Given the description of an element on the screen output the (x, y) to click on. 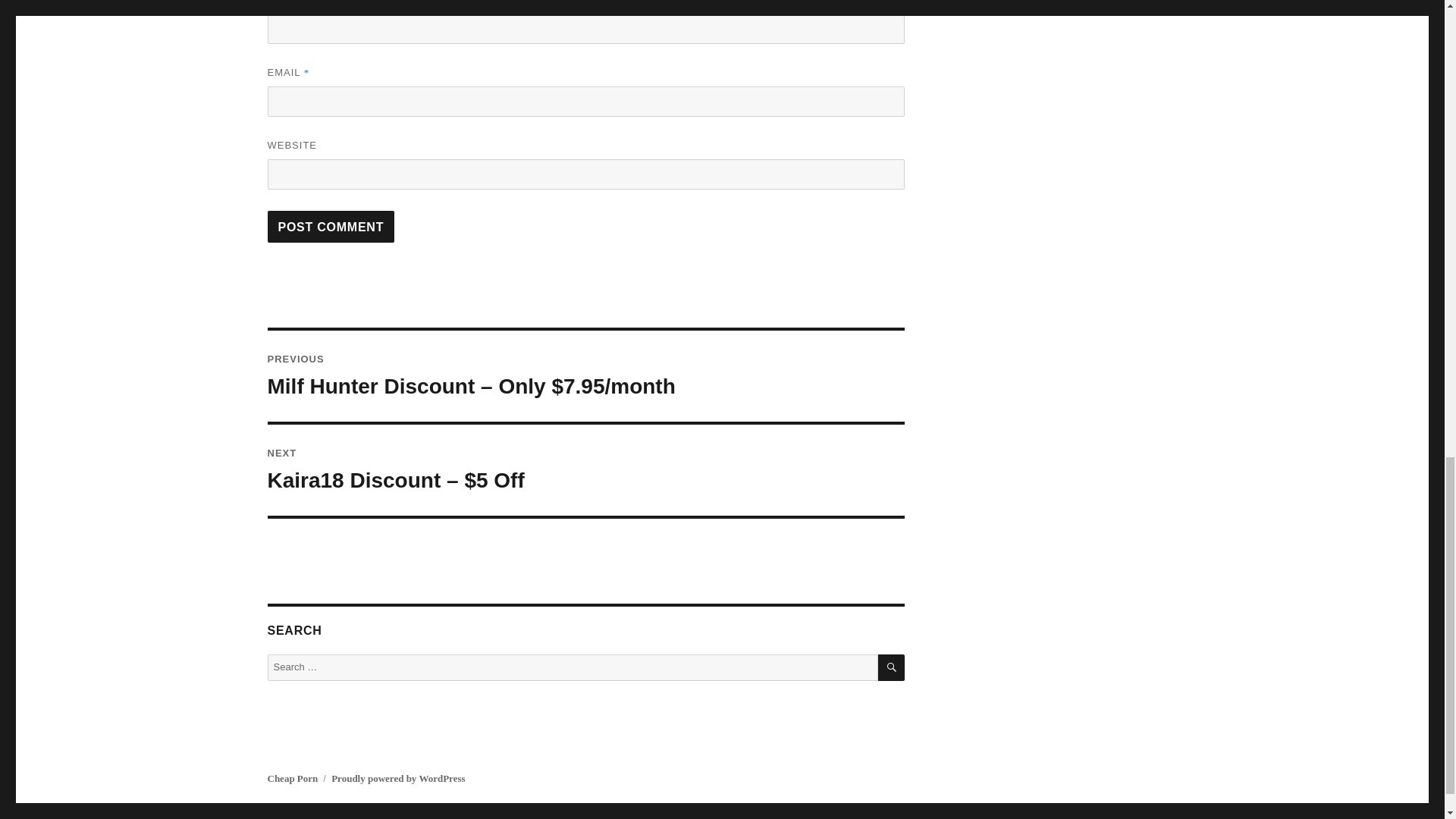
Post Comment (330, 226)
Post Comment (330, 226)
SEARCH (890, 667)
